Given the description of an element on the screen output the (x, y) to click on. 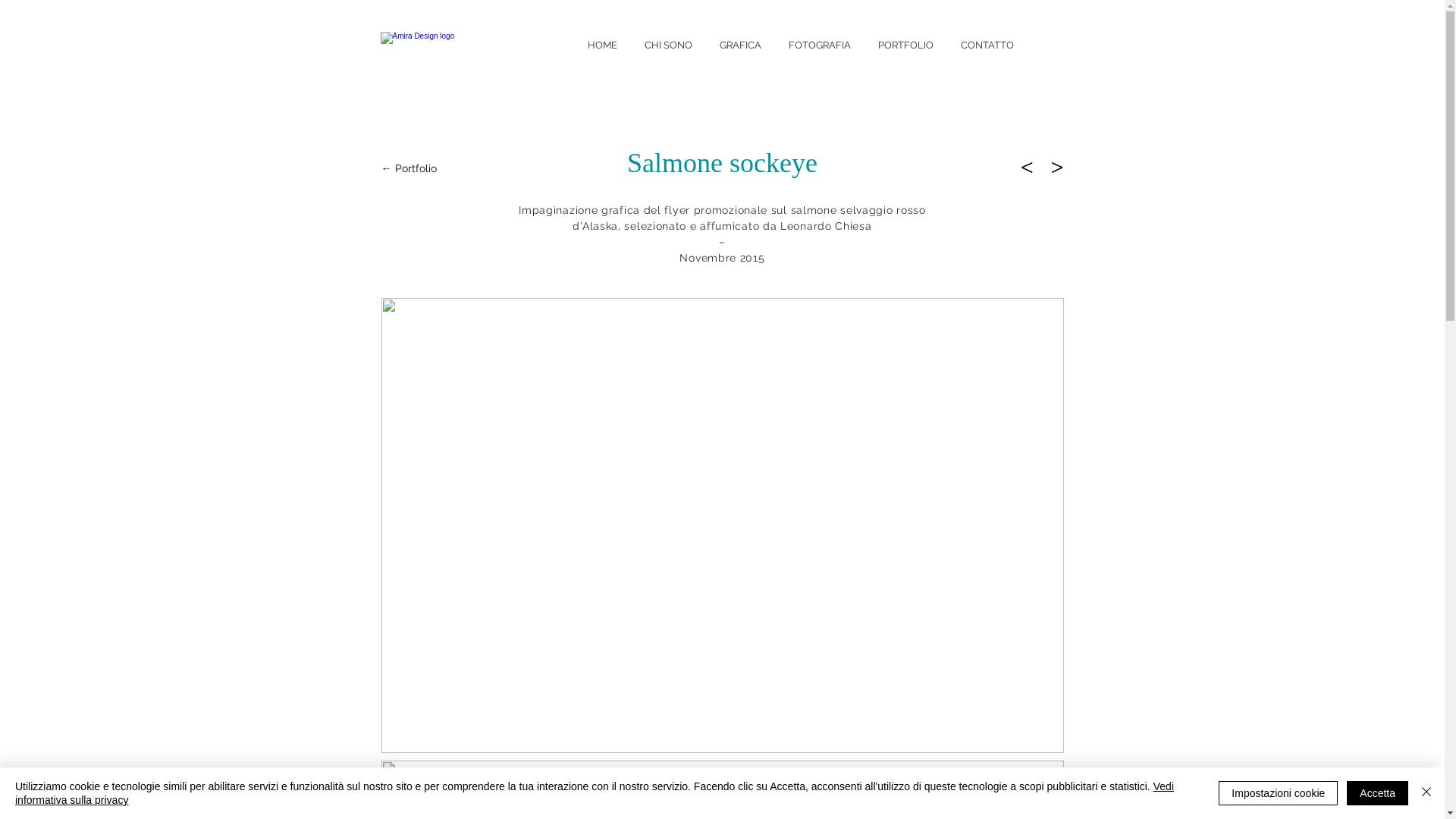
Accetta Element type: text (1377, 793)
> Element type: text (1052, 165)
HOME Element type: text (601, 43)
Impostazioni cookie Element type: text (1277, 793)
< Element type: text (1030, 165)
GRAFICA Element type: text (739, 43)
CONTATTO Element type: text (986, 43)
CHI SONO Element type: text (668, 43)
Vedi informativa sulla privacy Element type: text (594, 793)
PORTFOLIO Element type: text (905, 43)
FOTOGRAFIA Element type: text (819, 43)
